Given the description of an element on the screen output the (x, y) to click on. 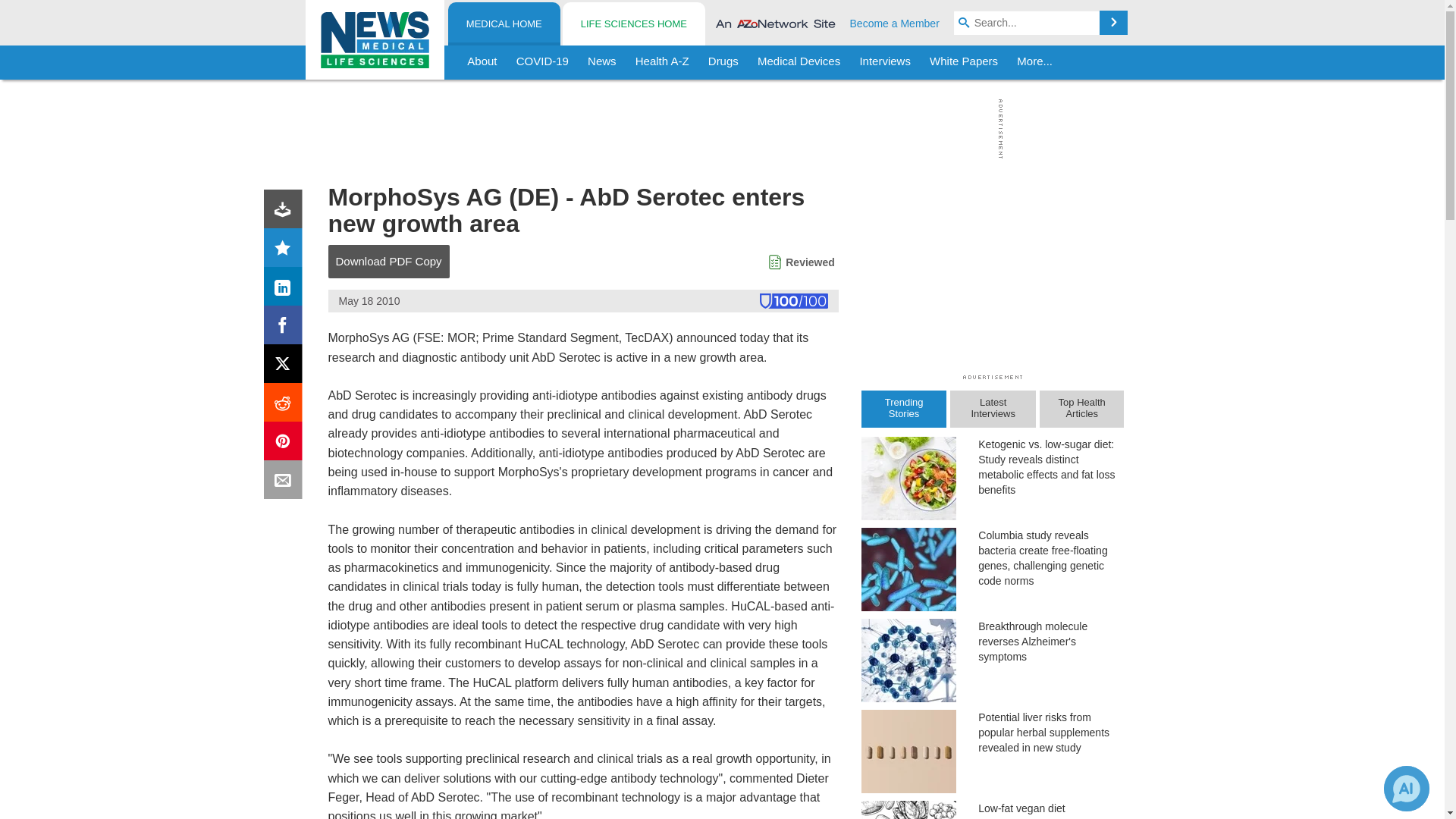
Facebook (285, 328)
X (285, 366)
Become a Member (894, 22)
Medical Devices (798, 62)
News (601, 62)
Rating (285, 250)
LIFE SCIENCES HOME (633, 23)
Reddit (285, 405)
Pinterest (285, 443)
Health A-Z (662, 62)
